Given the description of an element on the screen output the (x, y) to click on. 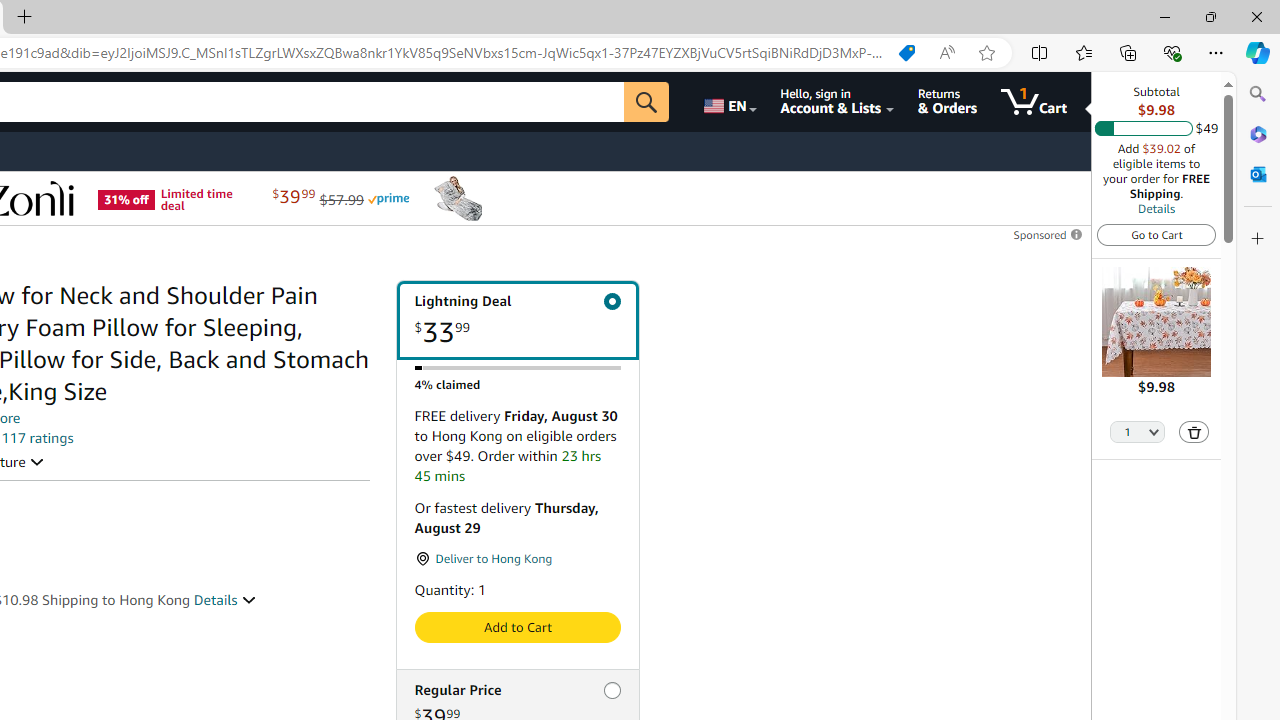
Go to Cart (1156, 234)
Returns & Orders (946, 101)
Details  (225, 599)
1 item in cart (1034, 101)
Choose a language for shopping. (728, 101)
Hello, sign in Account & Lists (836, 101)
